Given the description of an element on the screen output the (x, y) to click on. 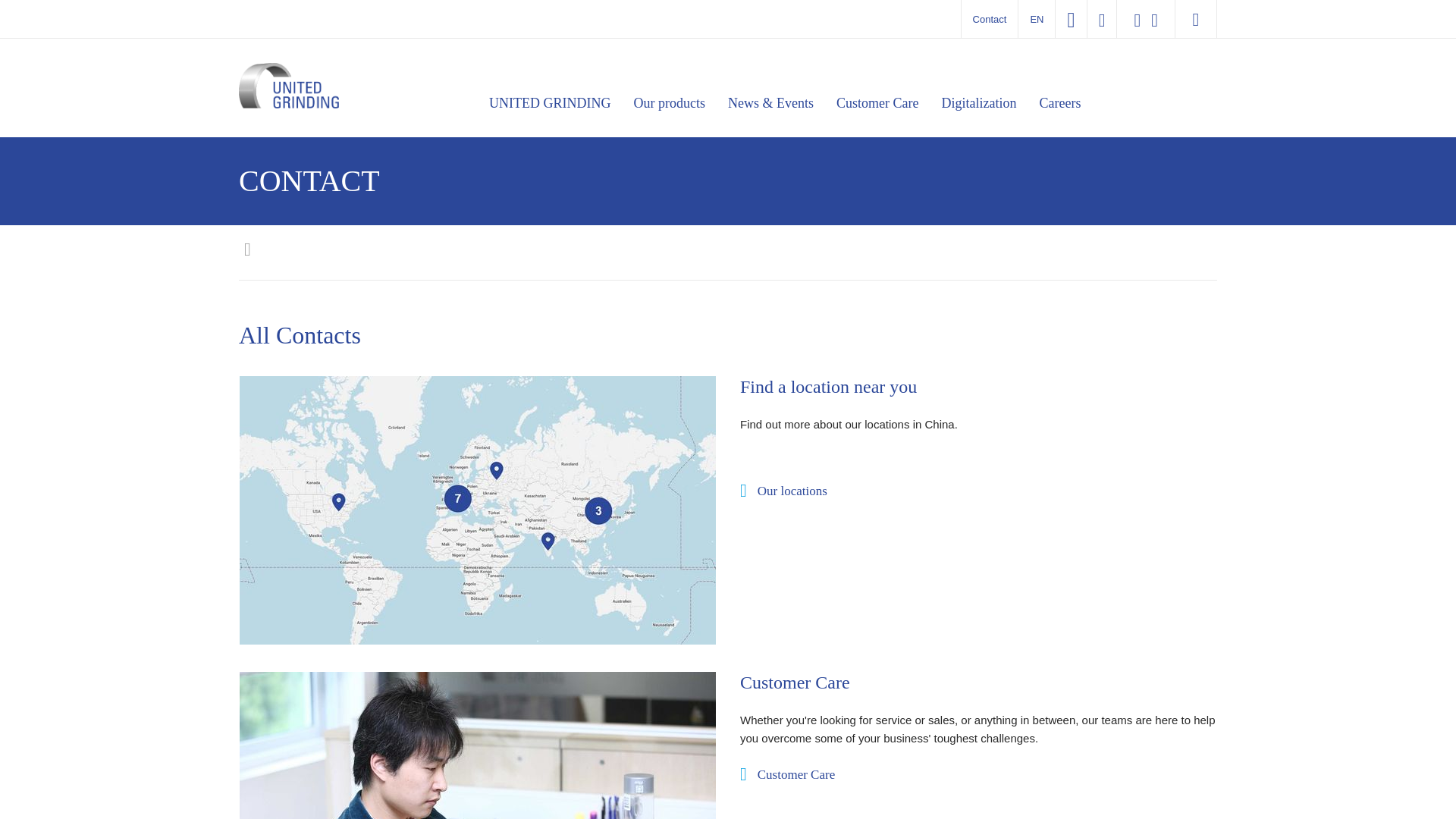
Contact (989, 18)
Change Language (1035, 19)
Contact (989, 18)
